Given the description of an element on the screen output the (x, y) to click on. 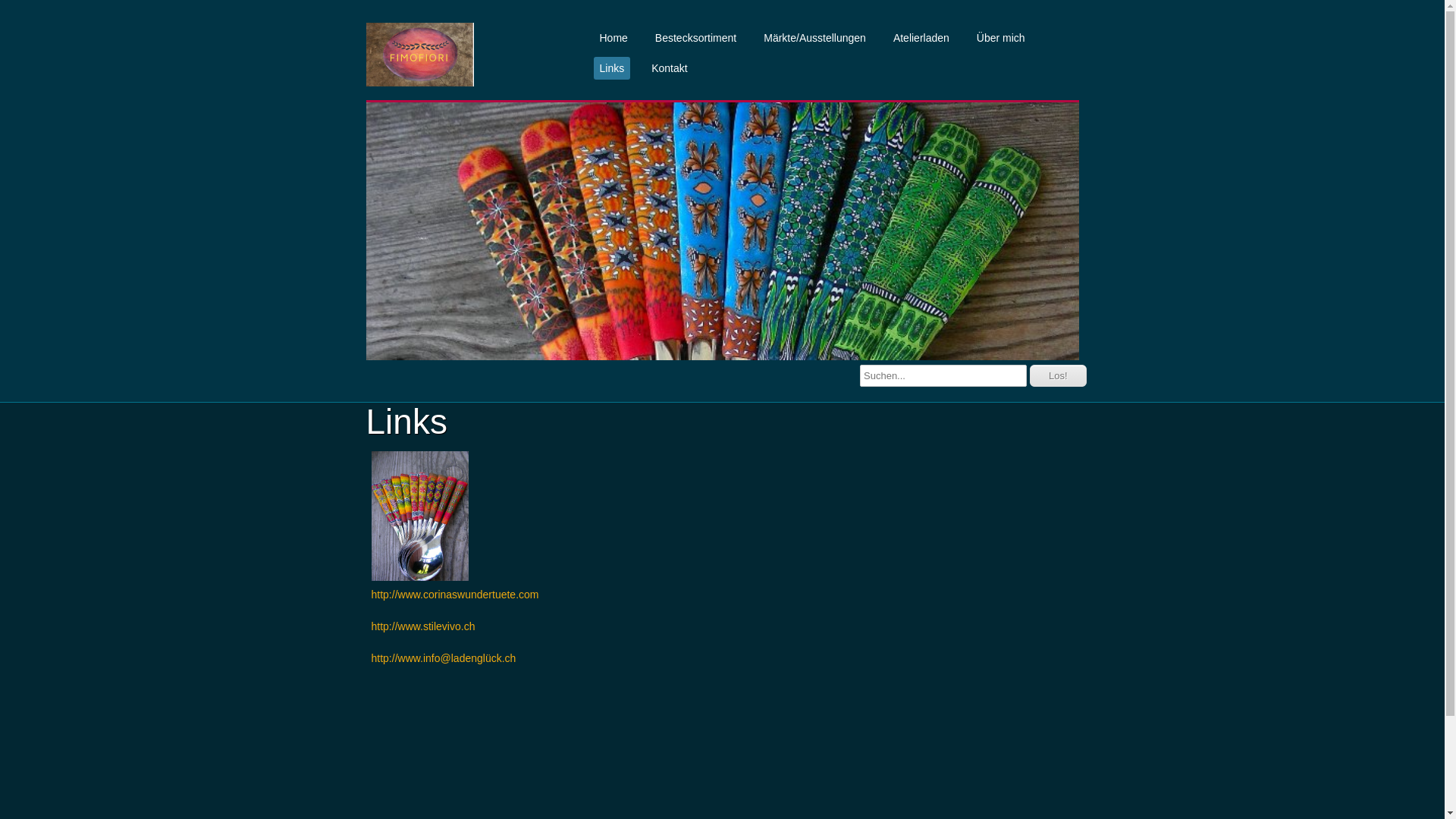
Bestecksortiment Element type: text (695, 37)
Links Element type: text (611, 67)
http://www.corinaswundertuete.com Element type: text (455, 594)
Home Element type: text (613, 37)
Los! Element type: text (1057, 375)
Kontakt Element type: text (669, 67)
Atelierladen Element type: text (921, 37)
http://www.stilevivo.ch Element type: text (423, 626)
